Given the description of an element on the screen output the (x, y) to click on. 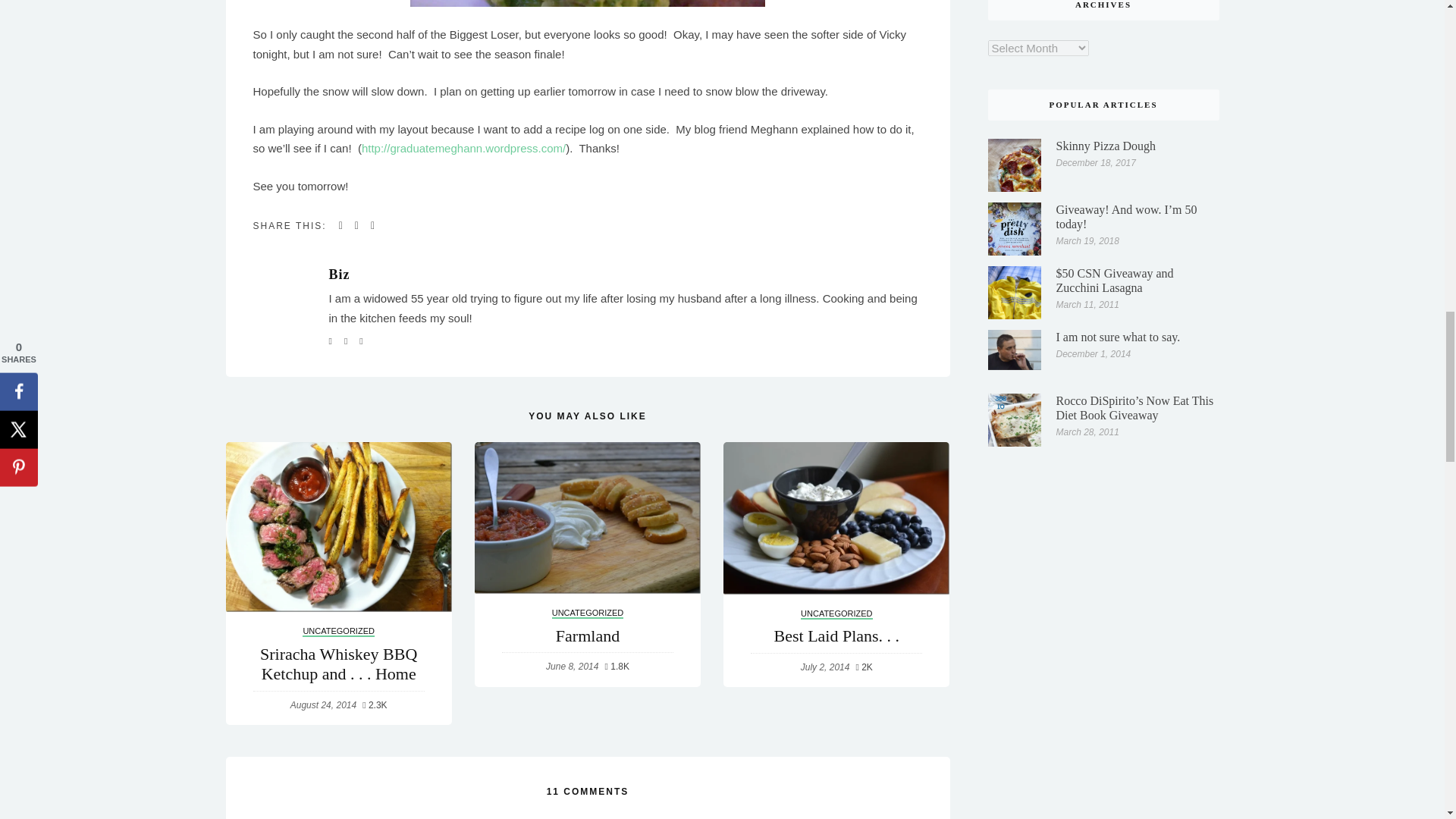
Are Christmas Cards A Thing of the Past? (338, 452)
Skinny Pizza Dough (1014, 15)
So Many Apps and Food T.V.! (587, 452)
dscn3536-640x4801 (587, 3)
